Given the description of an element on the screen output the (x, y) to click on. 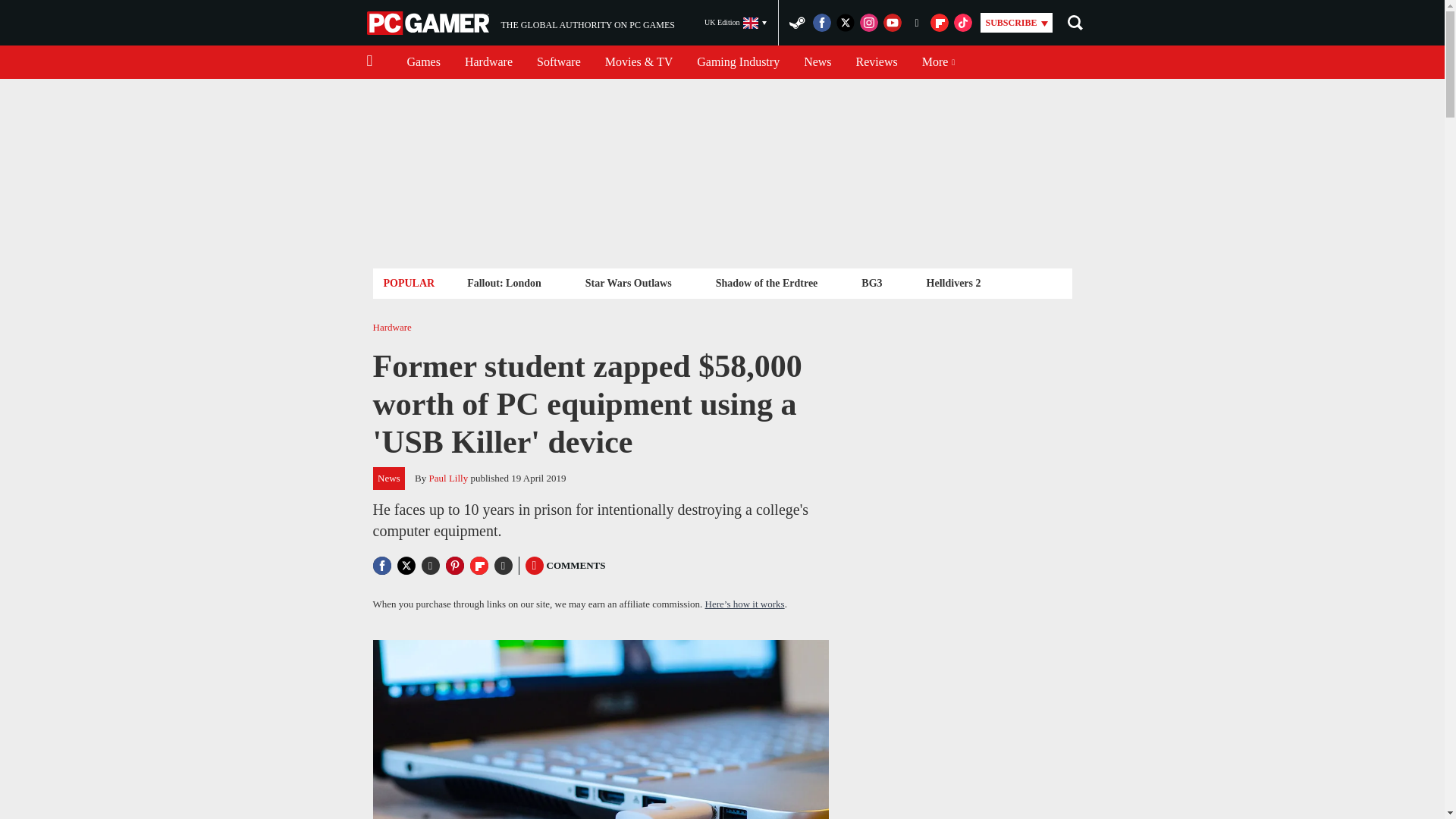
UK Edition (735, 22)
Software (558, 61)
Games (422, 61)
Star Wars Outlaws (628, 282)
News (817, 61)
PC Gamer (429, 22)
Fallout: London (520, 22)
Gaming Industry (504, 282)
Reviews (738, 61)
Hardware (877, 61)
